Given the description of an element on the screen output the (x, y) to click on. 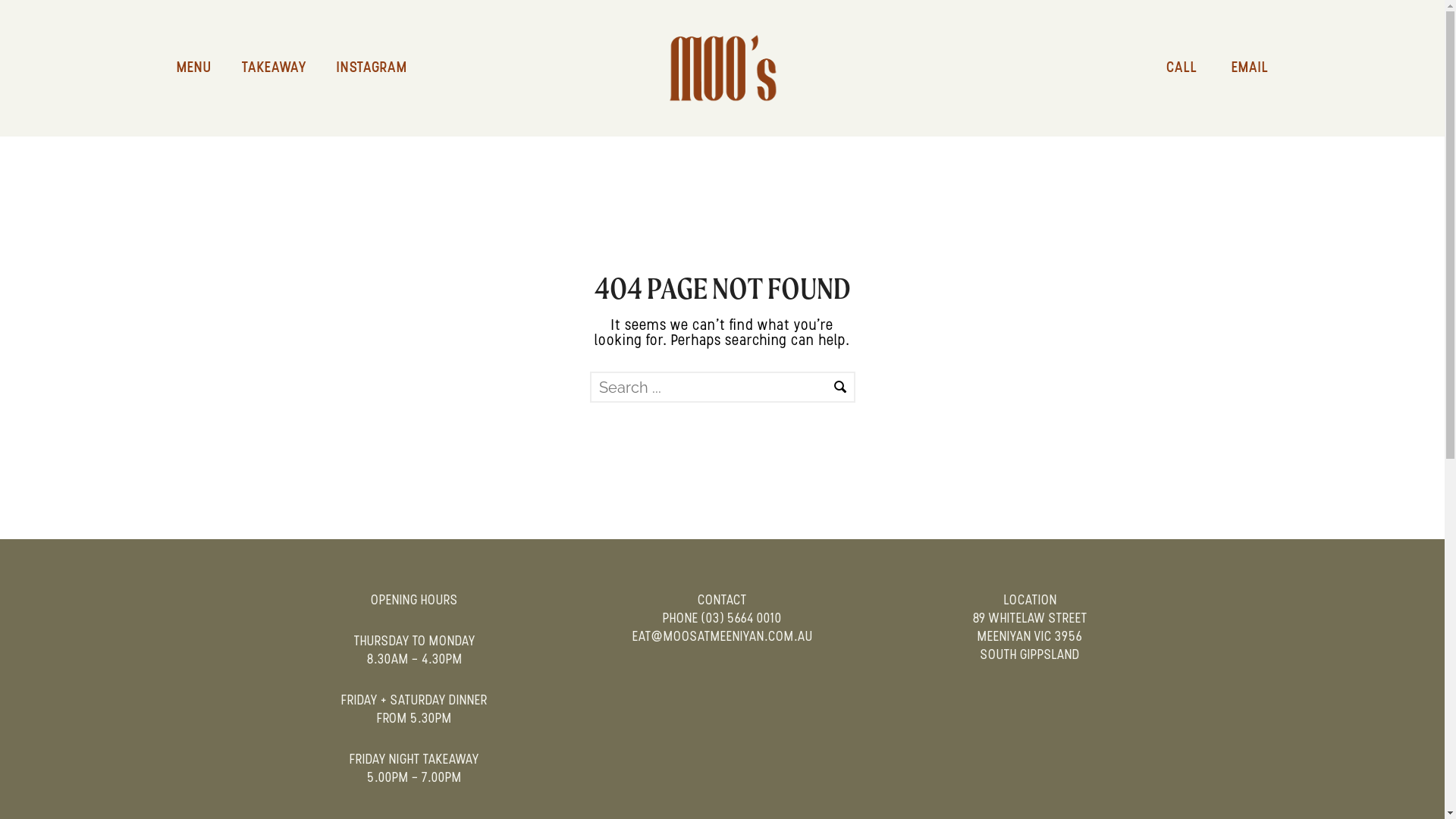
EMAIL Element type: text (1234, 67)
CALL Element type: text (1166, 67)
MENU Element type: text (200, 67)
TAKEAWAY Element type: text (272, 67)
INSTAGRAM Element type: text (371, 67)
